Given the description of an element on the screen output the (x, y) to click on. 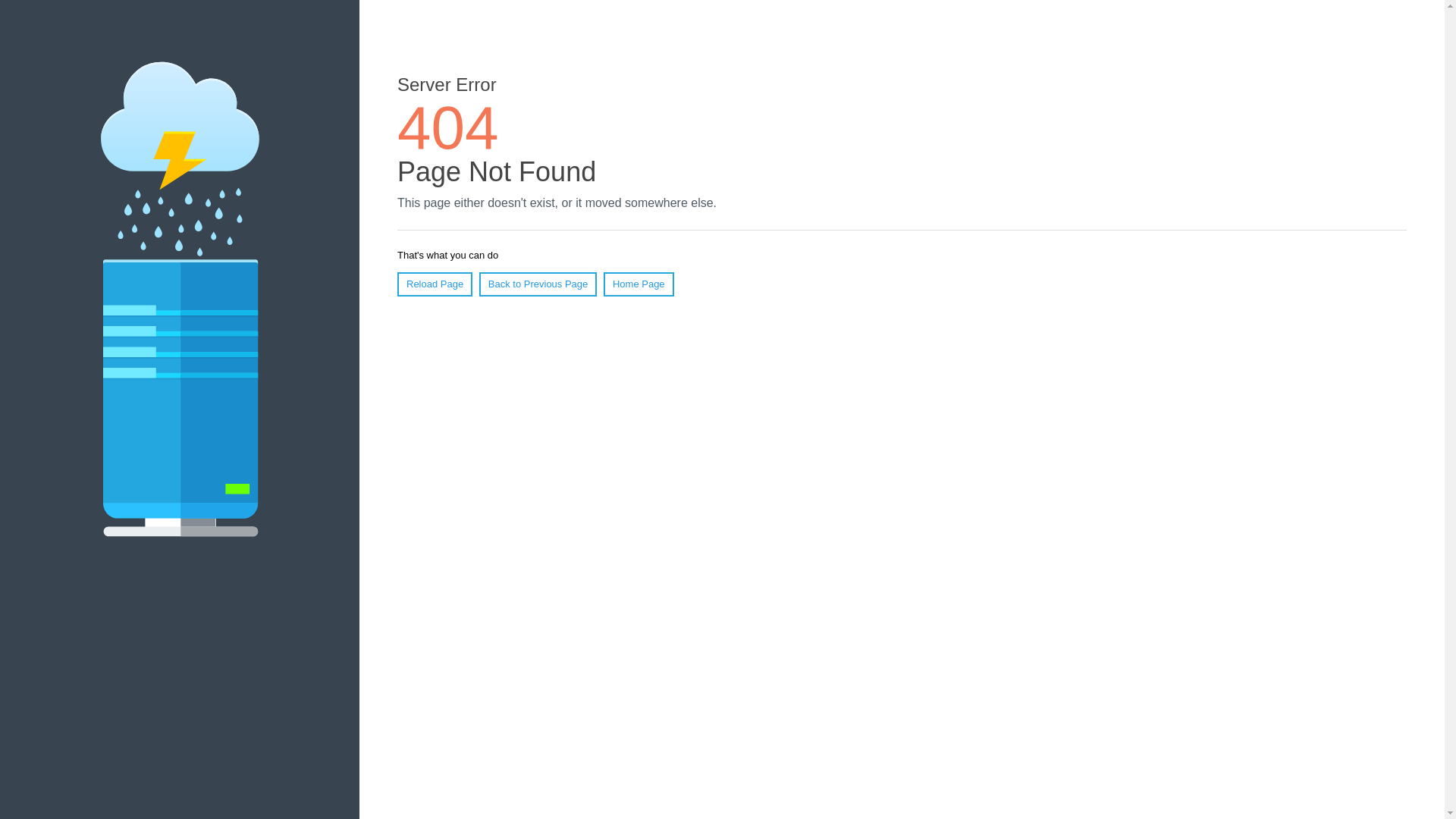
Back to Previous Page (537, 283)
Reload Page (434, 283)
Home Page (639, 283)
